Given the description of an element on the screen output the (x, y) to click on. 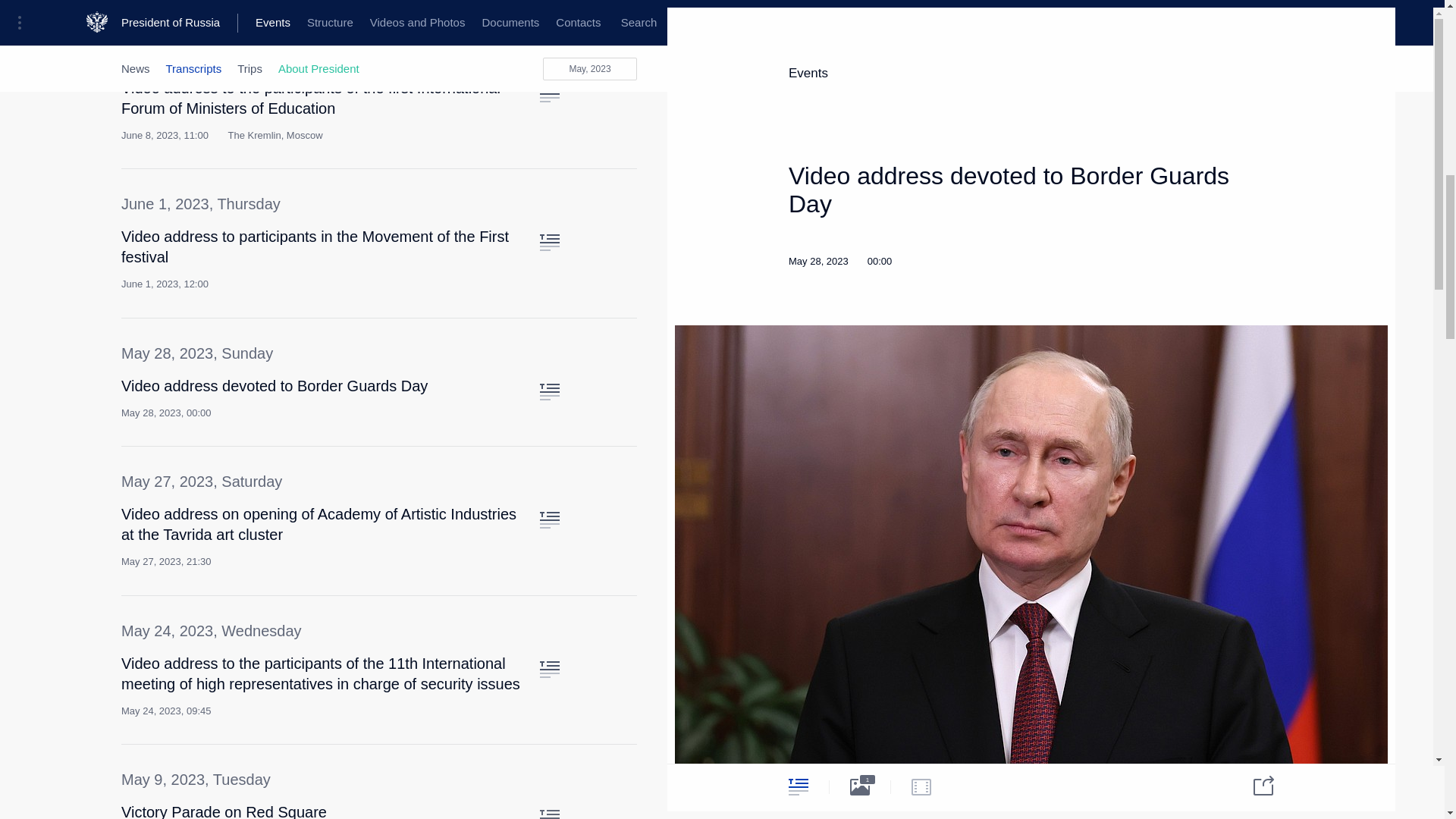
Text of the article (549, 392)
Text of the article (549, 669)
Text of the article (549, 814)
Text of the article (549, 242)
Text of the article (549, 519)
Text of the article (549, 93)
